Given the description of an element on the screen output the (x, y) to click on. 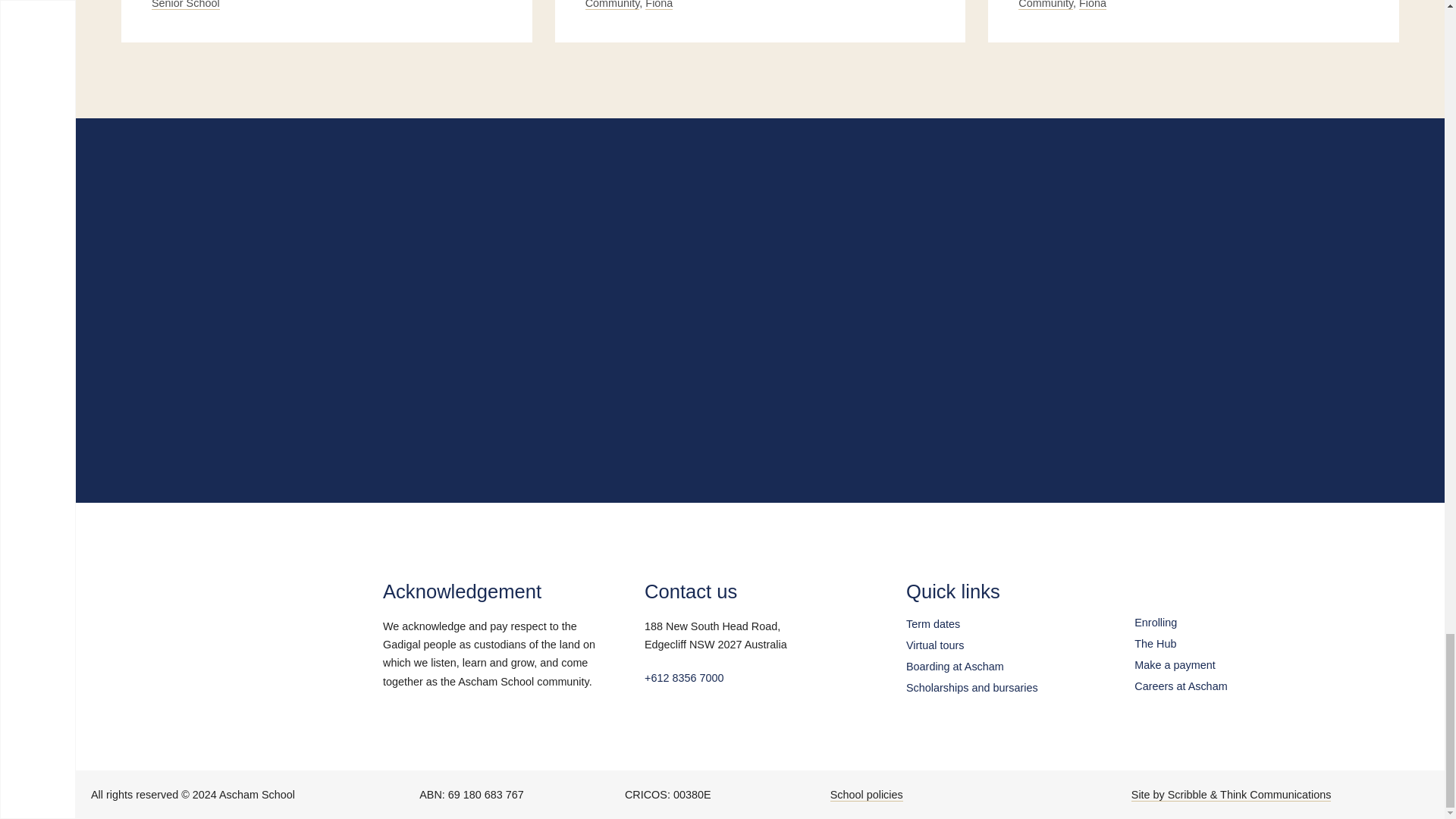
Term dates (932, 623)
Senior School (185, 4)
Boarding at Ascham (954, 665)
Virtual tours (934, 644)
The Hub (1155, 643)
Community (612, 4)
Community (1045, 4)
Enrolling (1155, 622)
Fiona (1092, 4)
School policies (865, 793)
Make a payment (1174, 665)
Fiona (658, 4)
Careers at Ascham (1180, 685)
Scholarships and bursaries (971, 686)
